Given the description of an element on the screen output the (x, y) to click on. 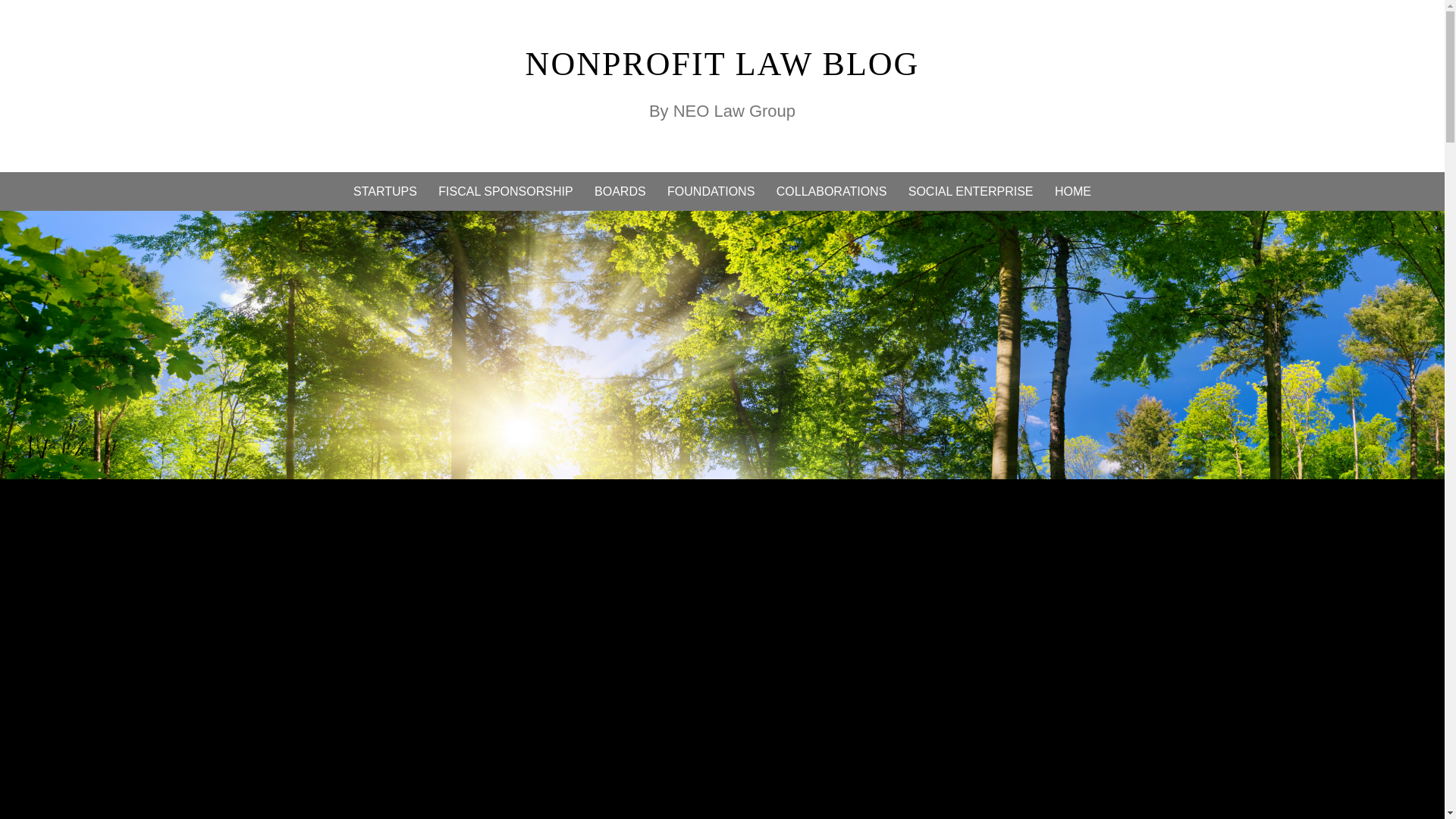
FOUNDATIONS (710, 190)
STARTUPS (384, 190)
SOCIAL ENTERPRISE (970, 190)
HOME (1072, 190)
FISCAL SPONSORSHIP (504, 190)
COLLABORATIONS (831, 190)
NONPROFIT LAW BLOG (722, 63)
Nonprofit Law Blog By NEO Law Group (722, 63)
BOARDS (620, 190)
